Given the description of an element on the screen output the (x, y) to click on. 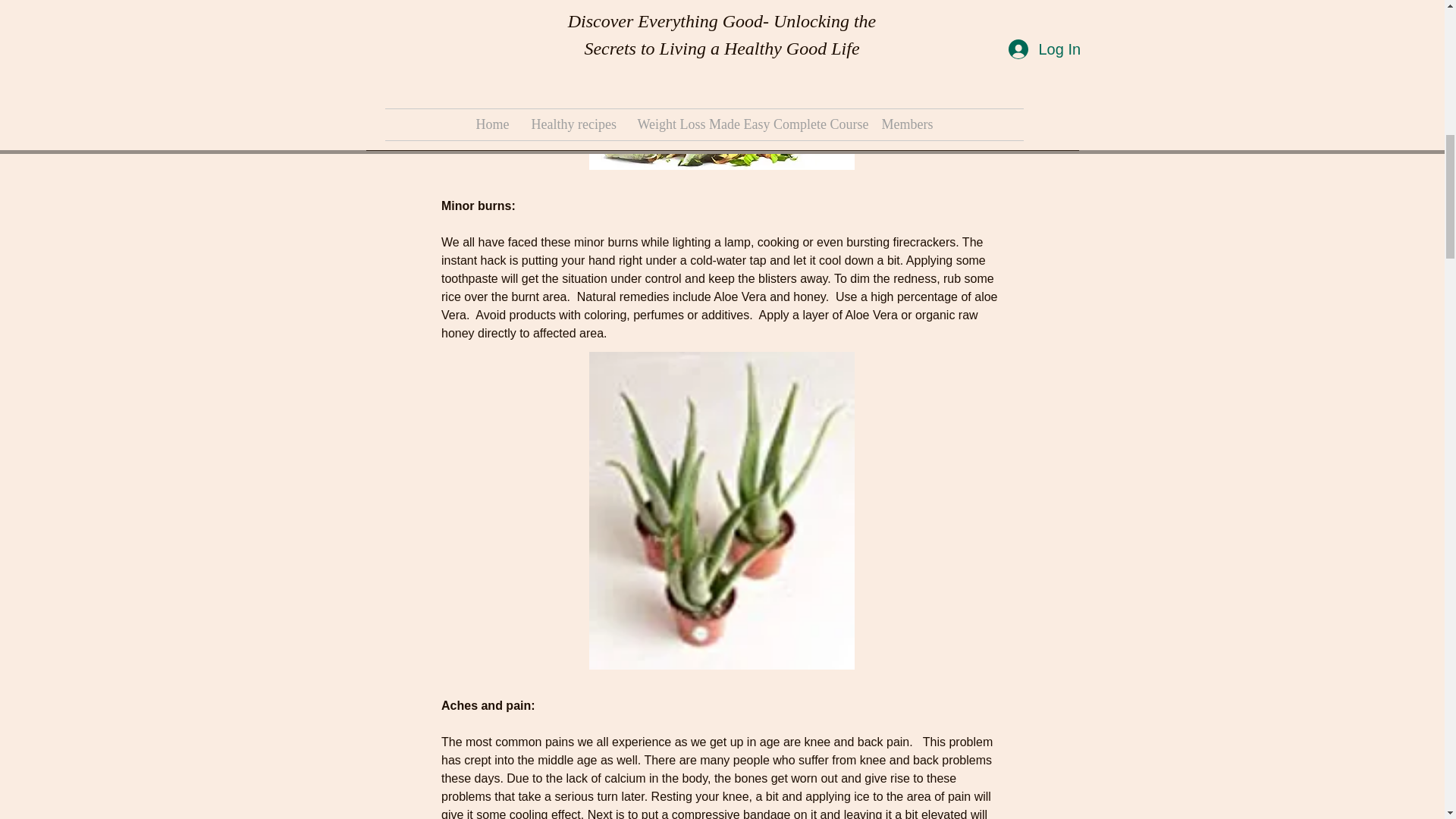
Home Remedies (761, 212)
healing oils (607, 212)
Produce (504, 233)
How to Break Your Sugar Addiction Before It Breaks You. (479, 80)
Superfoods (561, 233)
Food For Thought: Healthy Food For Mental Clarity (964, 25)
organic (458, 233)
Healthy Eating (678, 212)
coconut oil (462, 212)
Food (560, 212)
allergies help (396, 212)
Detoxing (517, 212)
Poison known as sugar: 5 Ways Sugar is Killing You (721, 13)
Home remedy (398, 233)
